Given the description of an element on the screen output the (x, y) to click on. 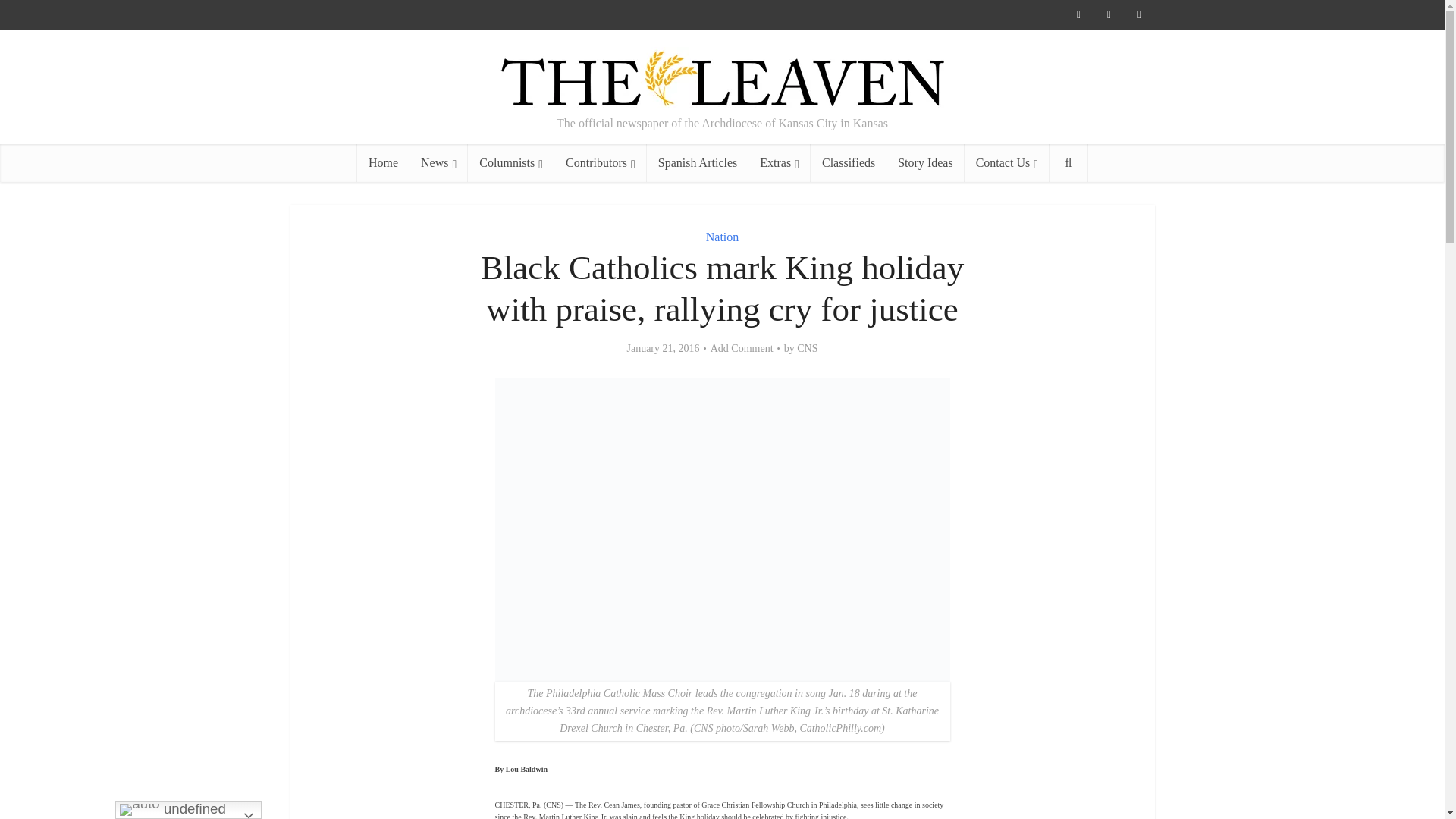
Home (382, 162)
Extras (779, 162)
Contributors (600, 162)
News (438, 162)
Columnists (510, 162)
Spanish Articles (697, 162)
Classifieds (848, 162)
None (438, 162)
